Given the description of an element on the screen output the (x, y) to click on. 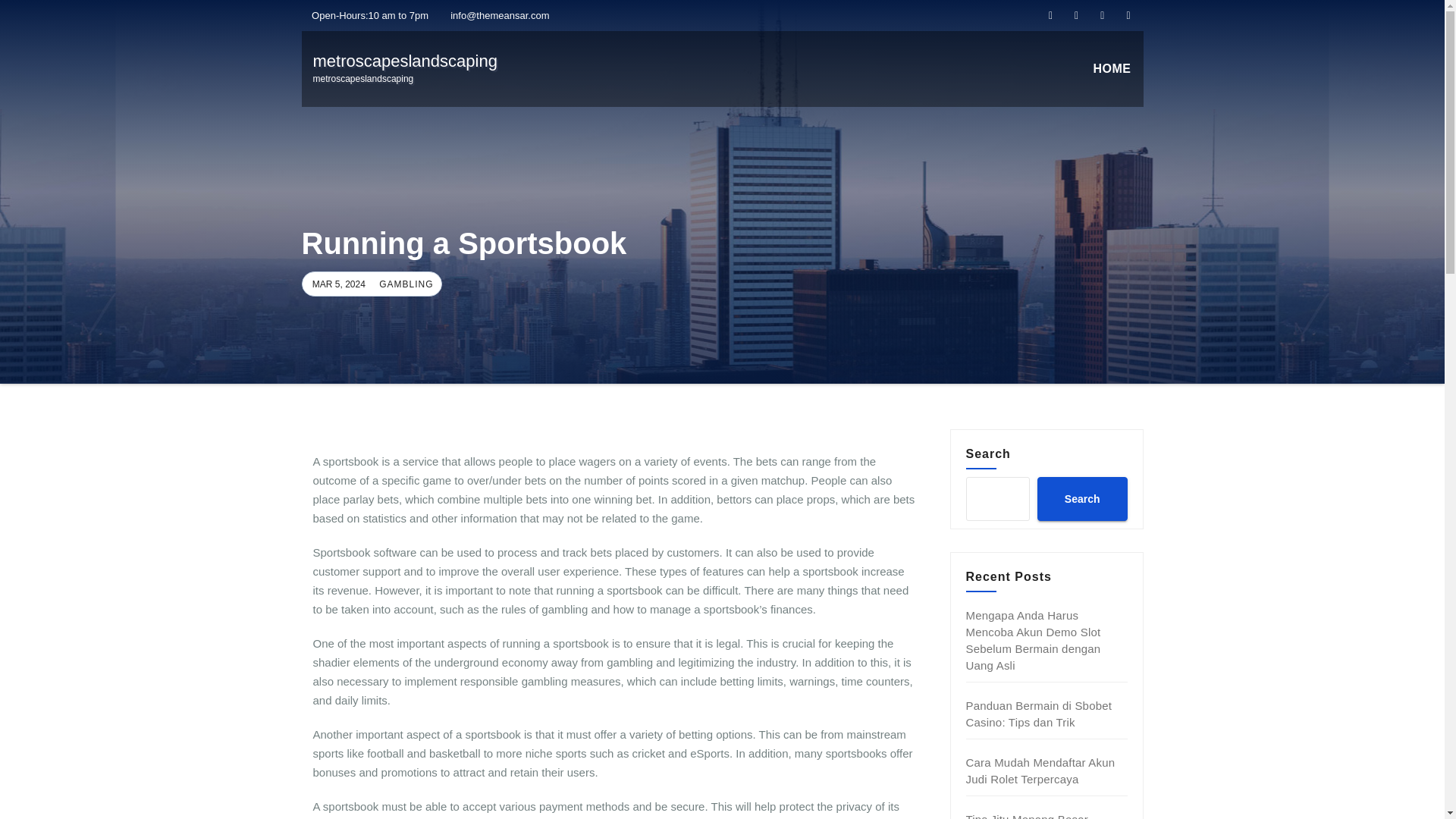
Open-Hours:10 am to 7pm (365, 15)
Tips Jitu Menang Besar Bermain Togel Shio Kambing (1041, 816)
Cara Mudah Mendaftar Akun Judi Rolet Terpercaya (404, 68)
GAMBLING (1040, 770)
Panduan Bermain di Sbobet Casino: Tips dan Trik (403, 284)
Search (1039, 713)
